Given the description of an element on the screen output the (x, y) to click on. 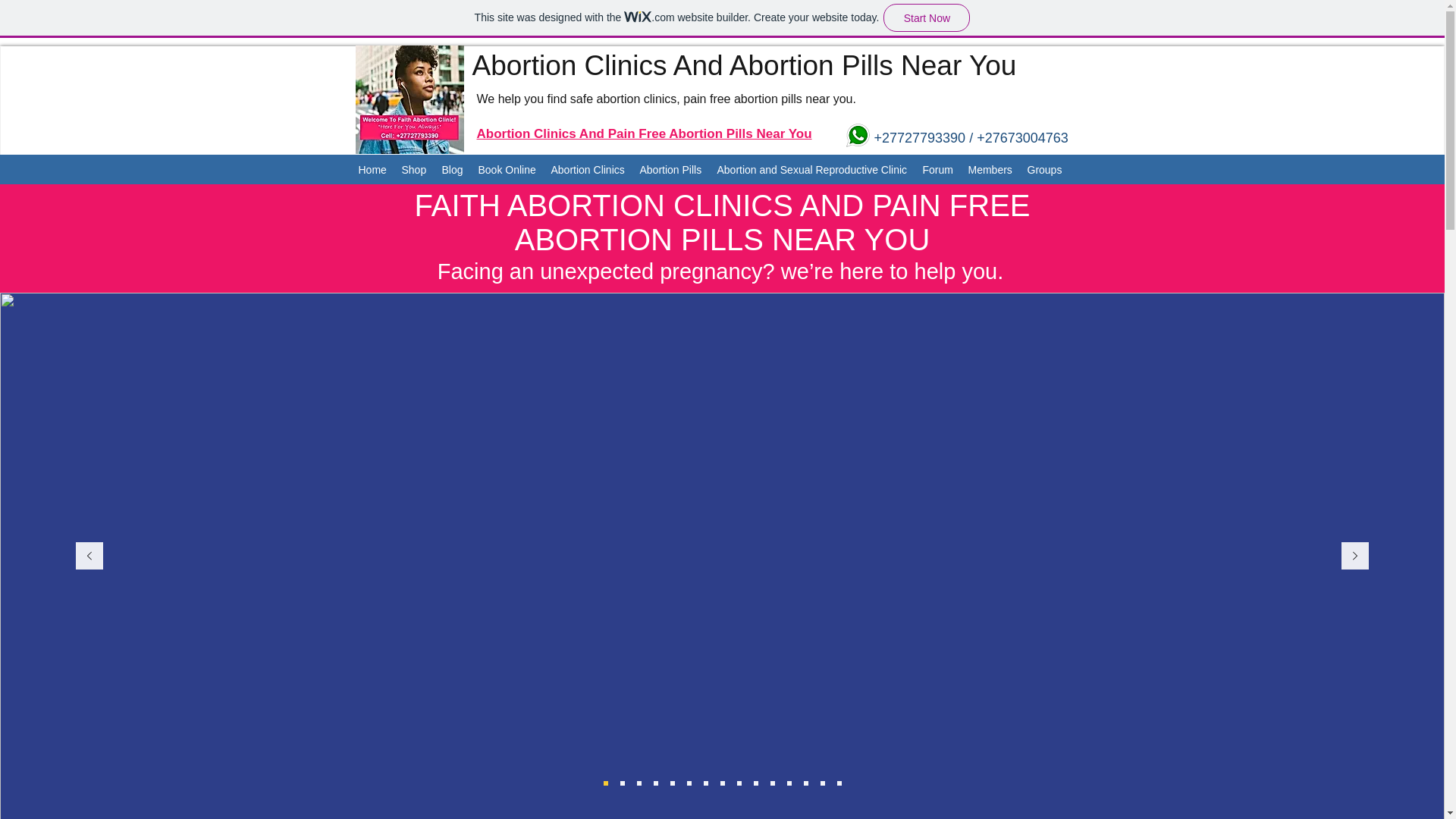
Shop (413, 169)
Abortion Clinics (587, 169)
Book Online (506, 169)
Home (371, 169)
Blog (451, 169)
